Given the description of an element on the screen output the (x, y) to click on. 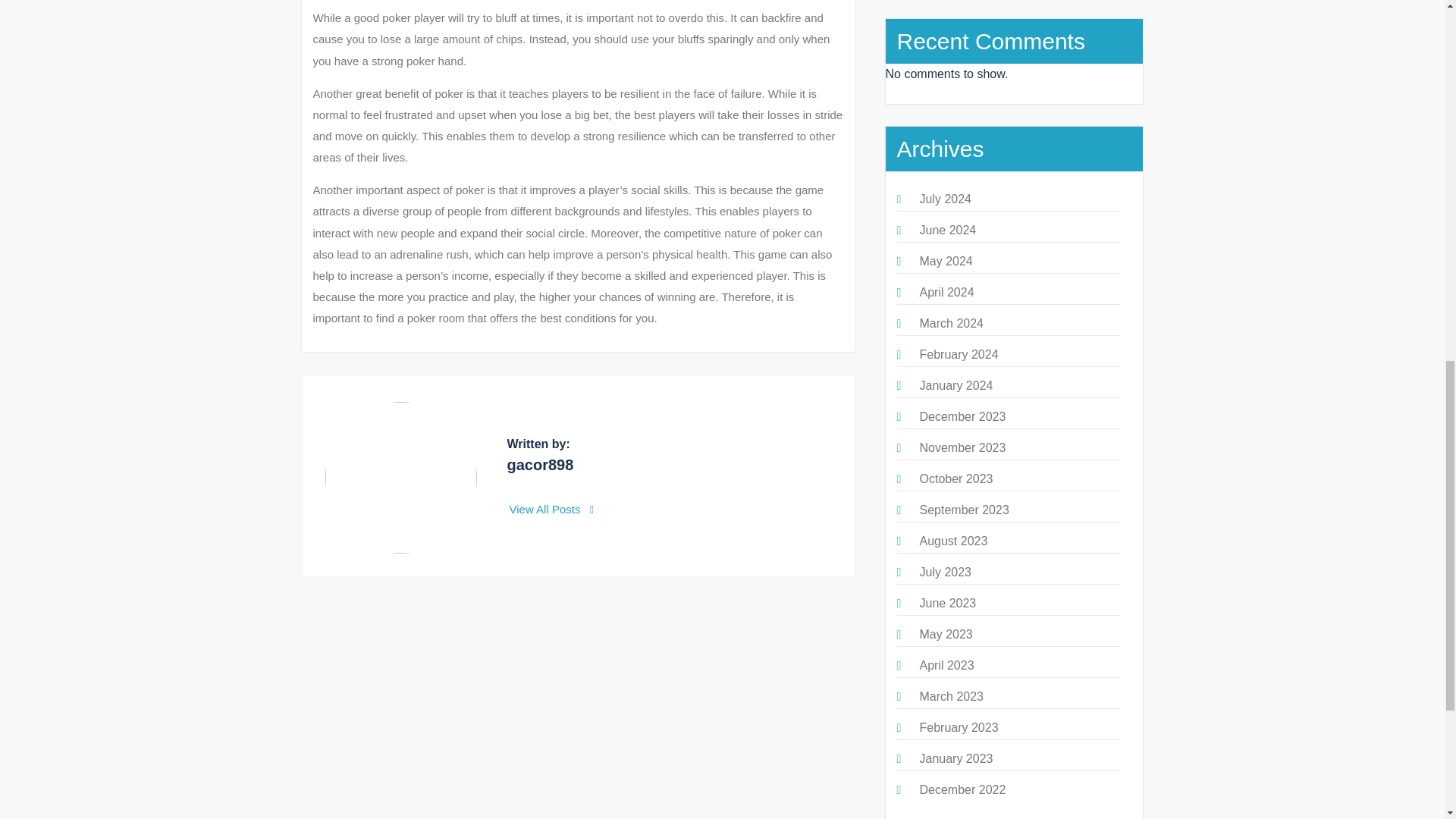
July 2024 (944, 198)
January 2024 (955, 385)
November 2023 (962, 447)
December 2023 (962, 416)
February 2023 (957, 727)
December 2022 (962, 789)
May 2024 (945, 260)
June 2024 (946, 229)
February 2024 (957, 354)
July 2023 (944, 571)
August 2023 (952, 540)
April 2024 (946, 291)
January 2023 (955, 758)
May 2023 (945, 634)
April 2023 (946, 665)
